Given the description of an element on the screen output the (x, y) to click on. 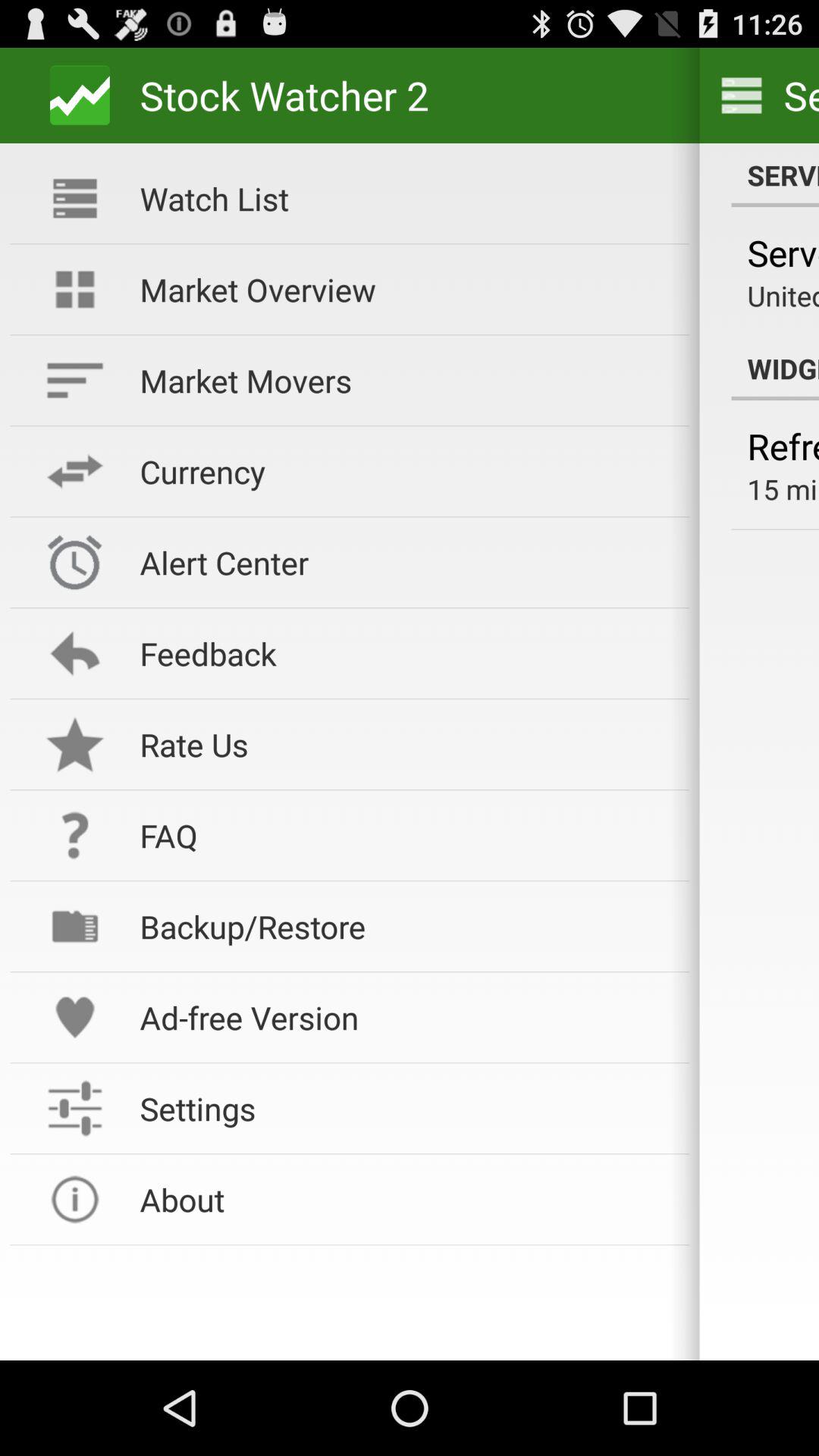
swipe to united states (us) (783, 295)
